Given the description of an element on the screen output the (x, y) to click on. 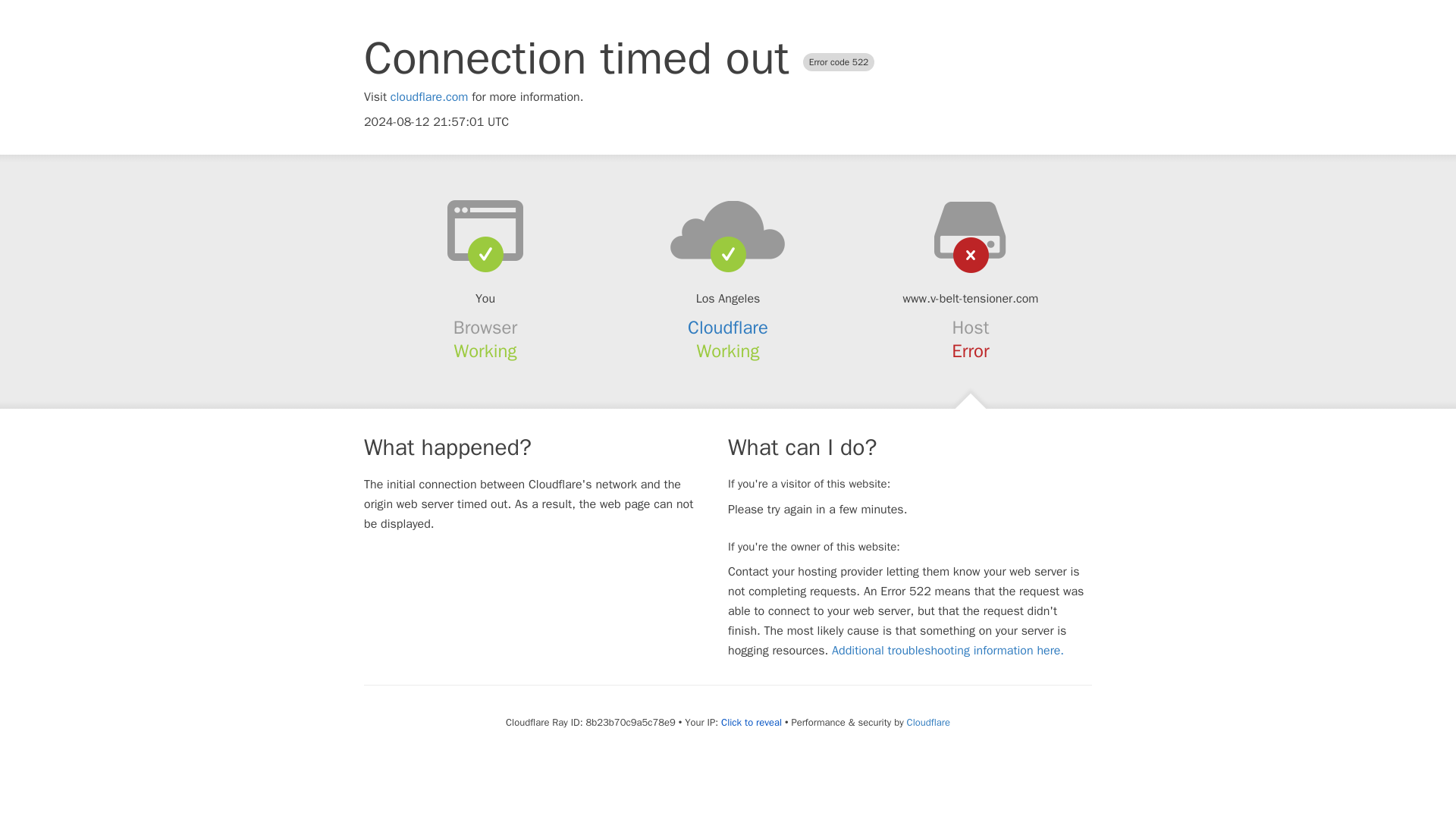
Click to reveal (750, 722)
Cloudflare (928, 721)
Cloudflare (727, 327)
cloudflare.com (429, 96)
Additional troubleshooting information here. (947, 650)
